Given the description of an element on the screen output the (x, y) to click on. 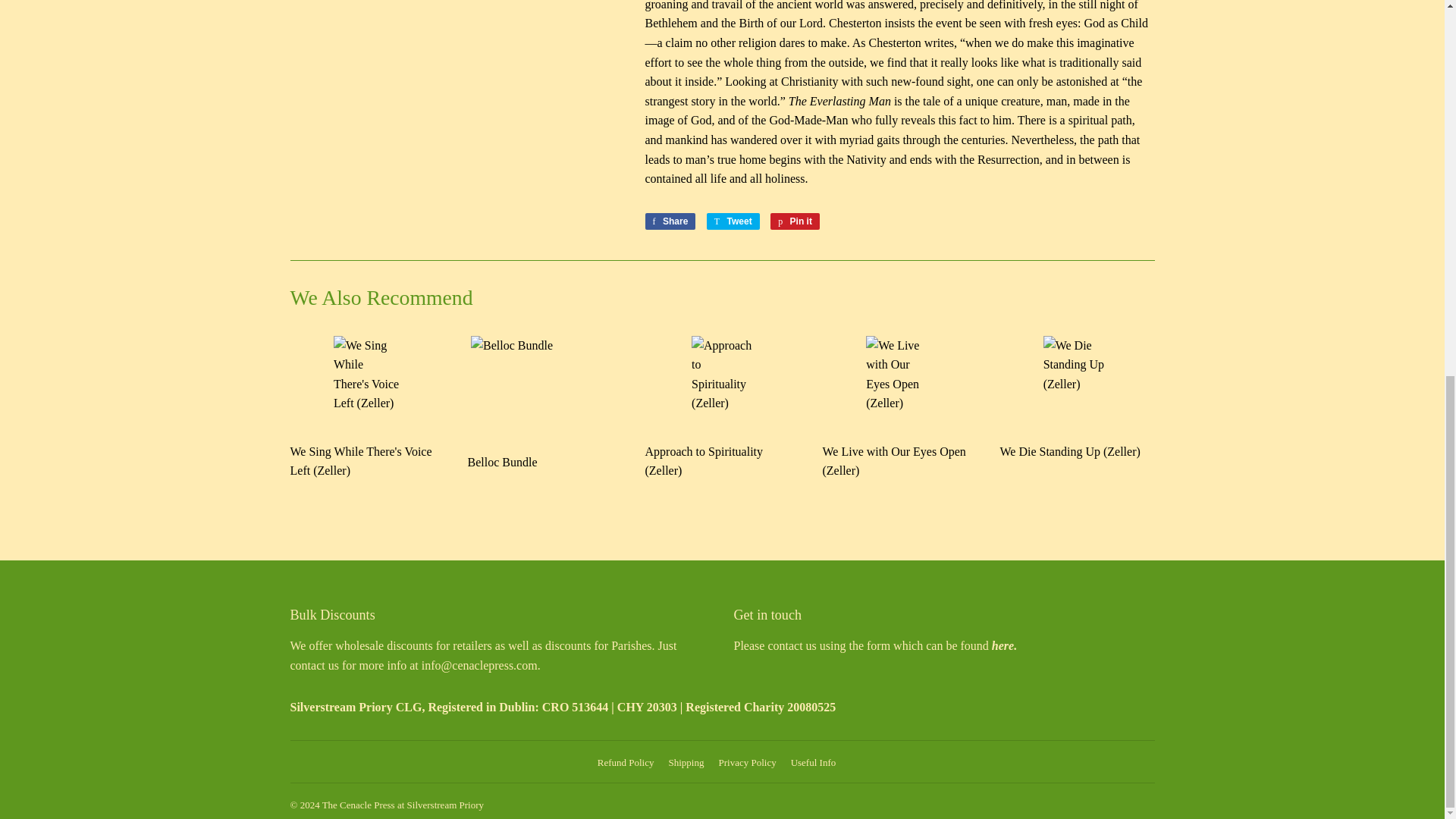
Pin on Pinterest (794, 221)
Share on Facebook (670, 221)
Tweet on Twitter (733, 221)
